Given the description of an element on the screen output the (x, y) to click on. 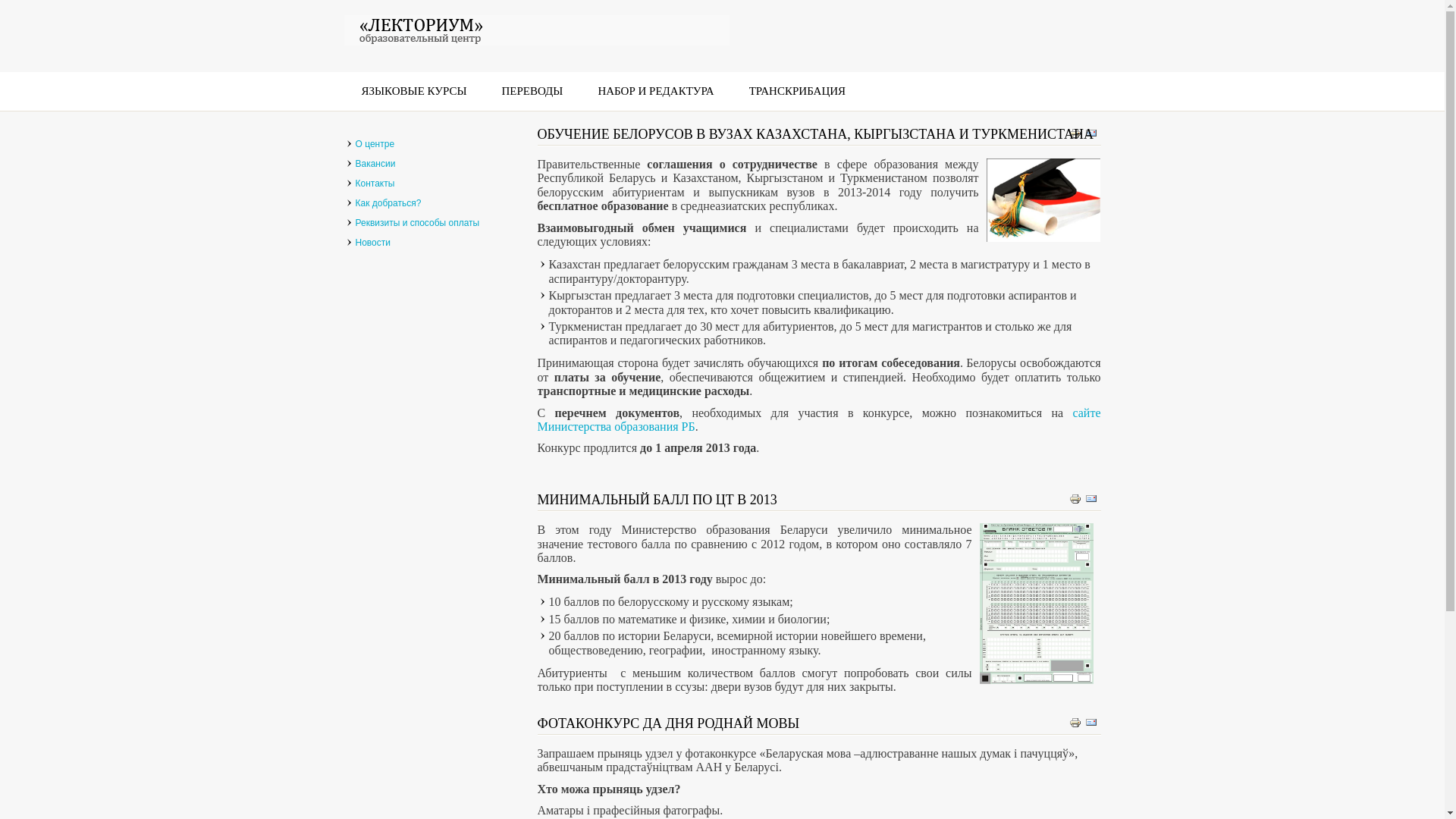
E-mail Element type: hover (1090, 497)
E-mail Element type: hover (1090, 132)
E-mail Element type: hover (1090, 721)
